Given the description of an element on the screen output the (x, y) to click on. 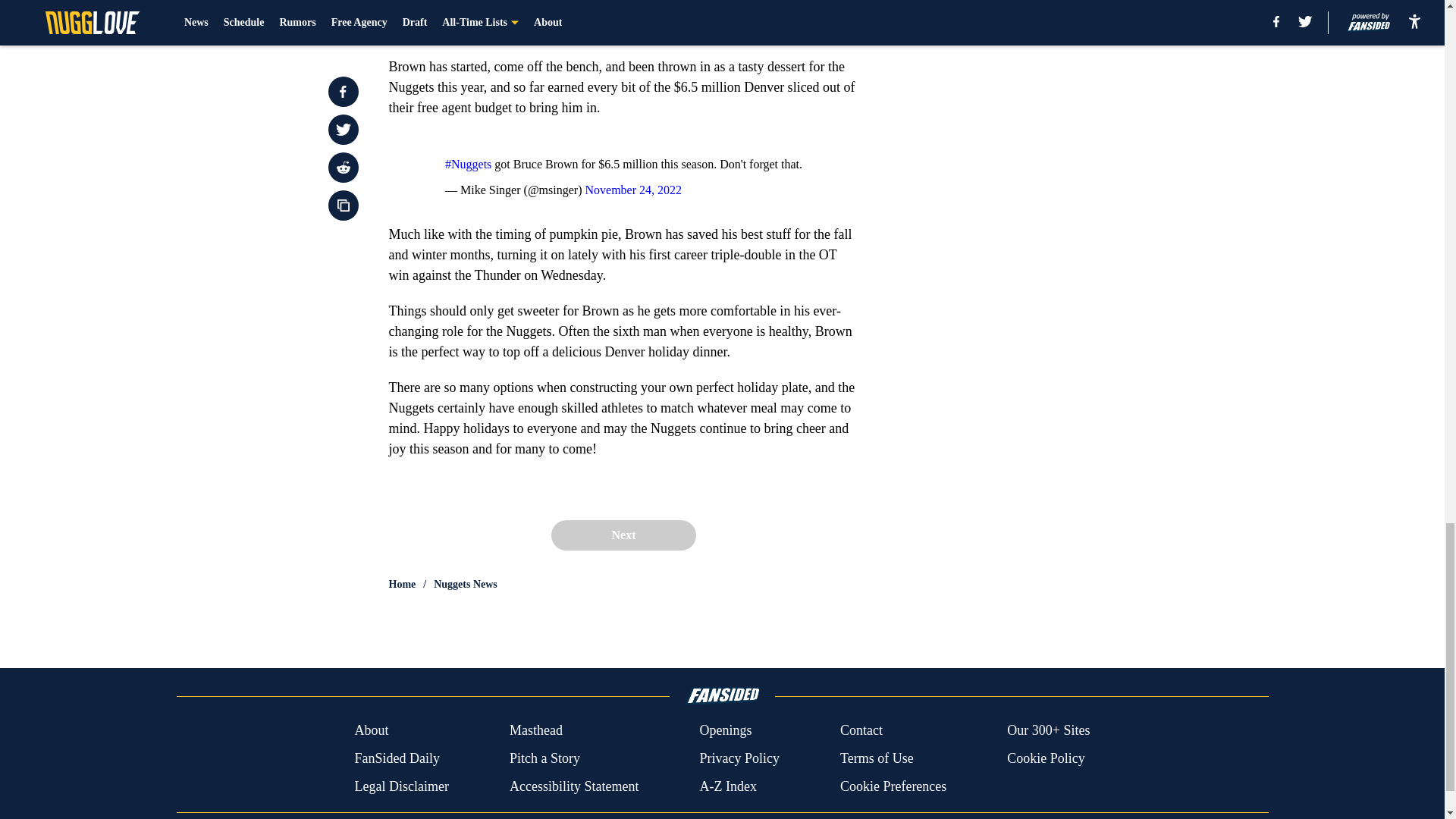
About (370, 730)
Pitch a Story (544, 758)
Openings (724, 730)
Masthead (535, 730)
Terms of Use (877, 758)
Nuggets News (465, 584)
Home (401, 584)
November 24, 2022 (633, 189)
Contact (861, 730)
FanSided Daily (396, 758)
